Given the description of an element on the screen output the (x, y) to click on. 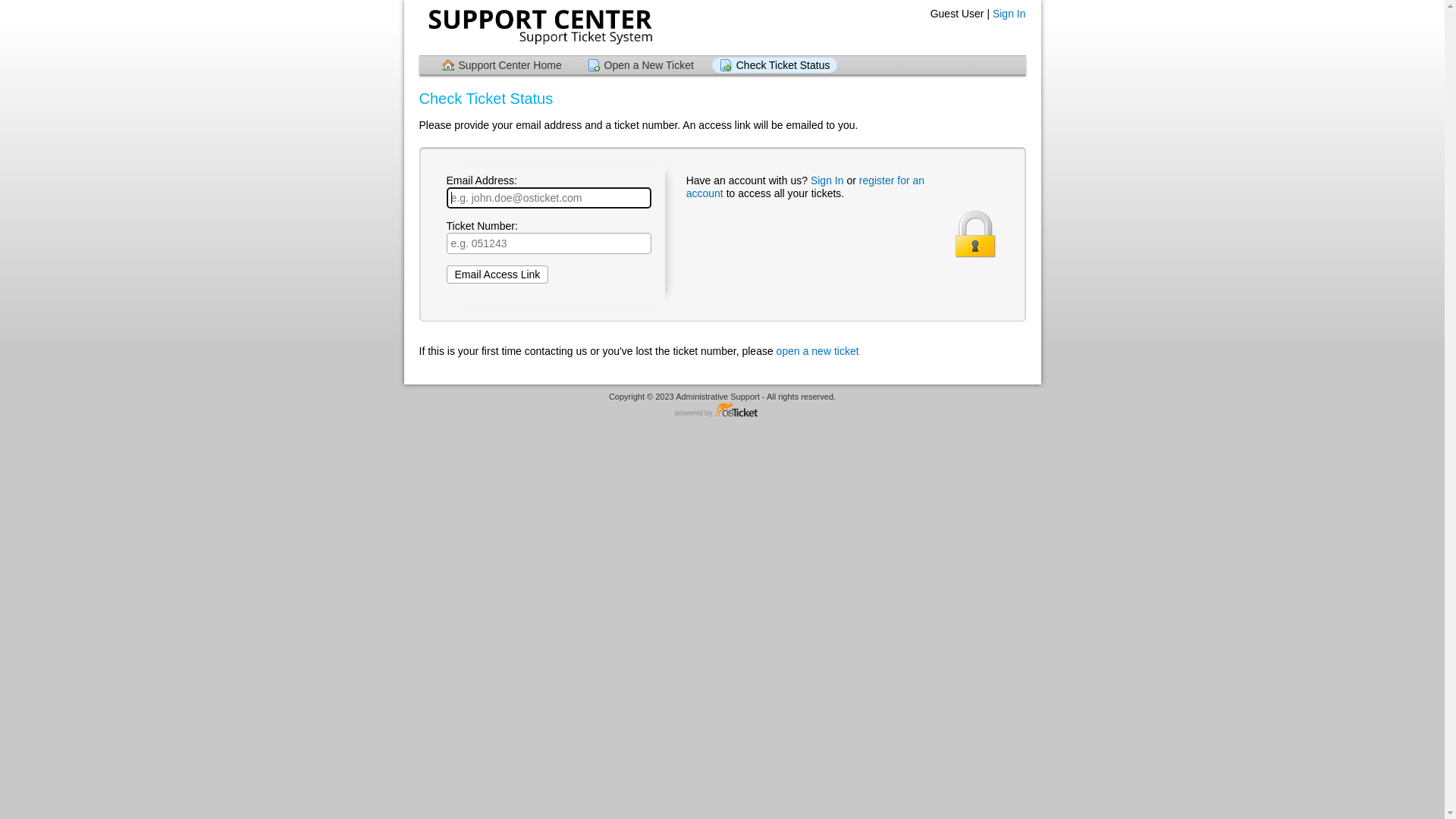
register for an account Element type: text (805, 186)
Check Ticket Status Element type: text (774, 64)
Helpdesk software - powered by osTicket Element type: text (722, 410)
Open a New Ticket Element type: text (640, 64)
open a new ticket Element type: text (817, 351)
Sign In Element type: text (1009, 13)
Sign In Element type: text (827, 180)
Support Center Element type: hover (538, 26)
Email Access Link Element type: text (496, 274)
Support Center Home Element type: text (500, 64)
